Given the description of an element on the screen output the (x, y) to click on. 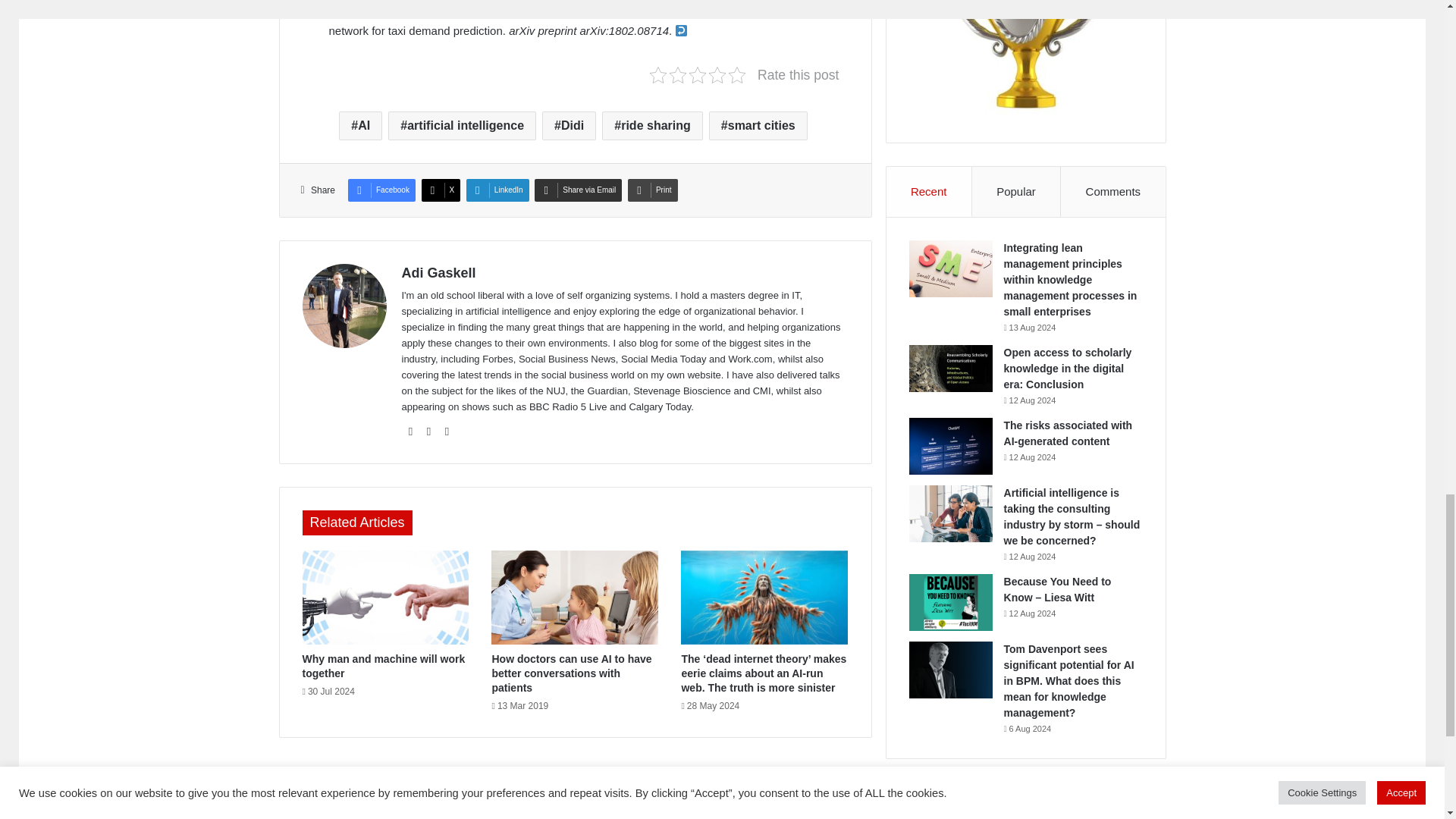
LinkedIn (497, 190)
Share via Email (577, 190)
Print (652, 190)
Facebook (380, 190)
X (441, 190)
